Given the description of an element on the screen output the (x, y) to click on. 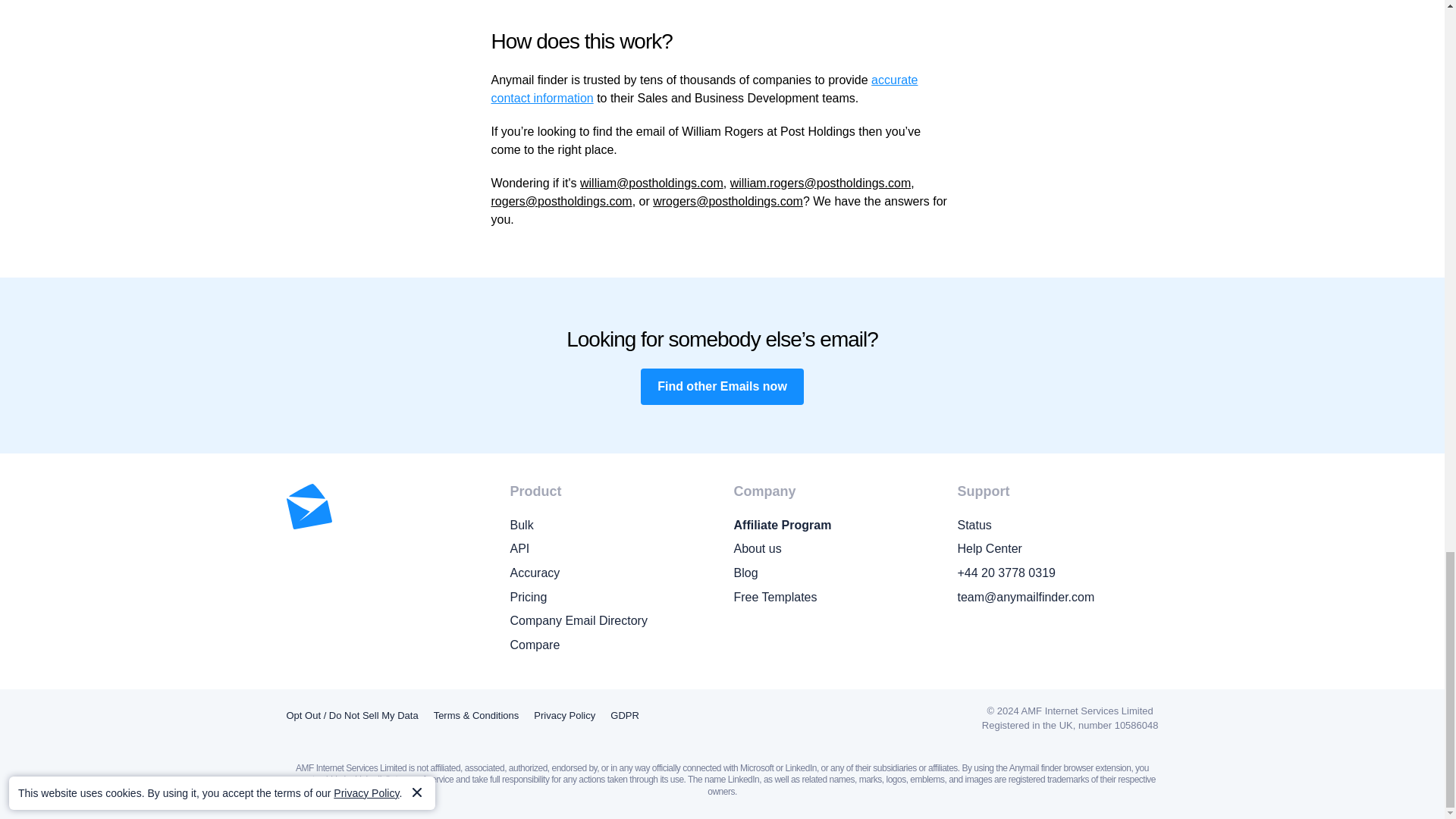
About us (833, 548)
accurate contact information (705, 88)
Blog (833, 573)
Accuracy (609, 573)
Status (1056, 525)
Bulk (609, 525)
API (609, 548)
Affiliate Program (833, 525)
Help Center (1056, 548)
Free Templates (833, 597)
